Given the description of an element on the screen output the (x, y) to click on. 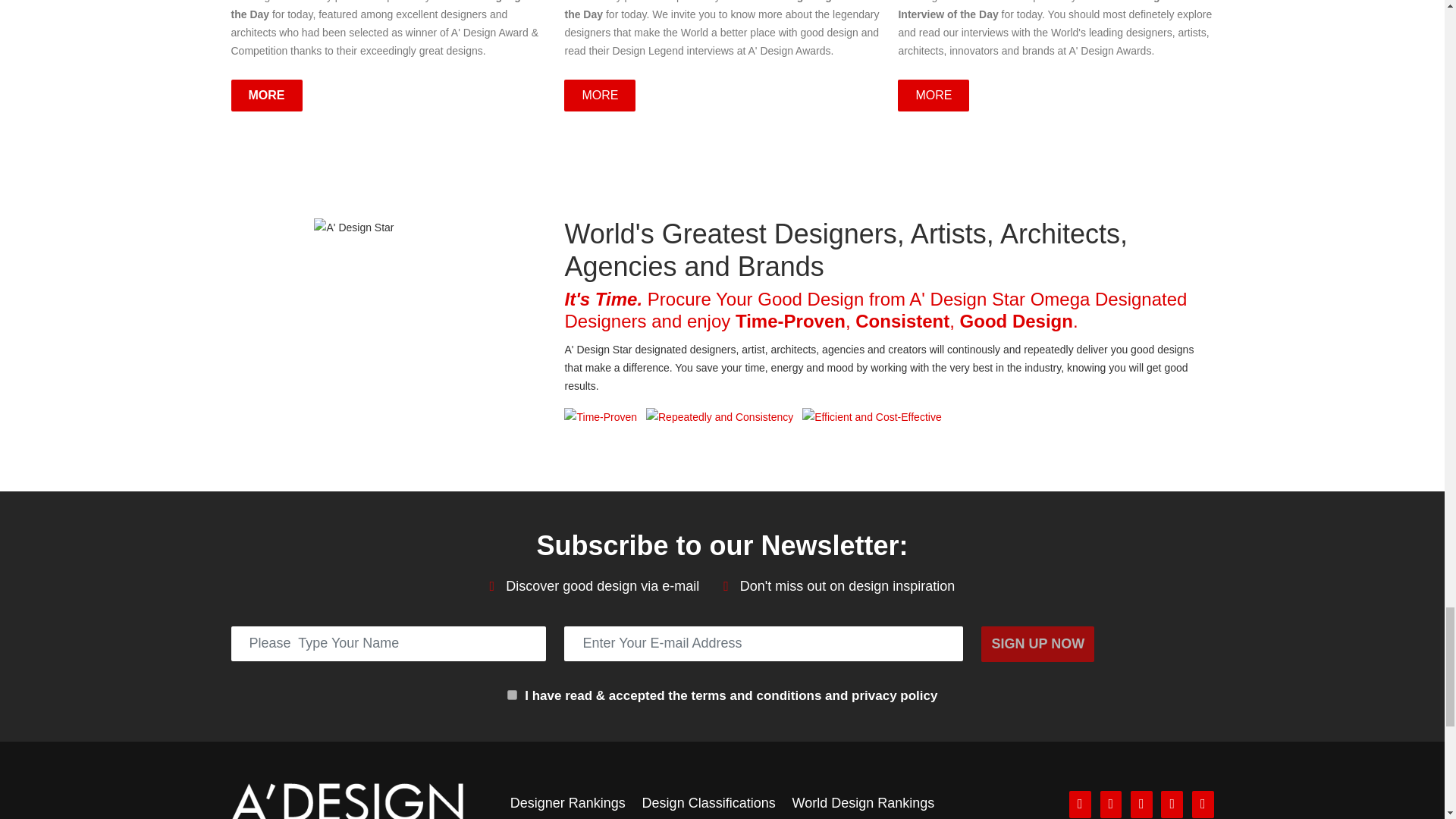
on (511, 695)
